Given the description of an element on the screen output the (x, y) to click on. 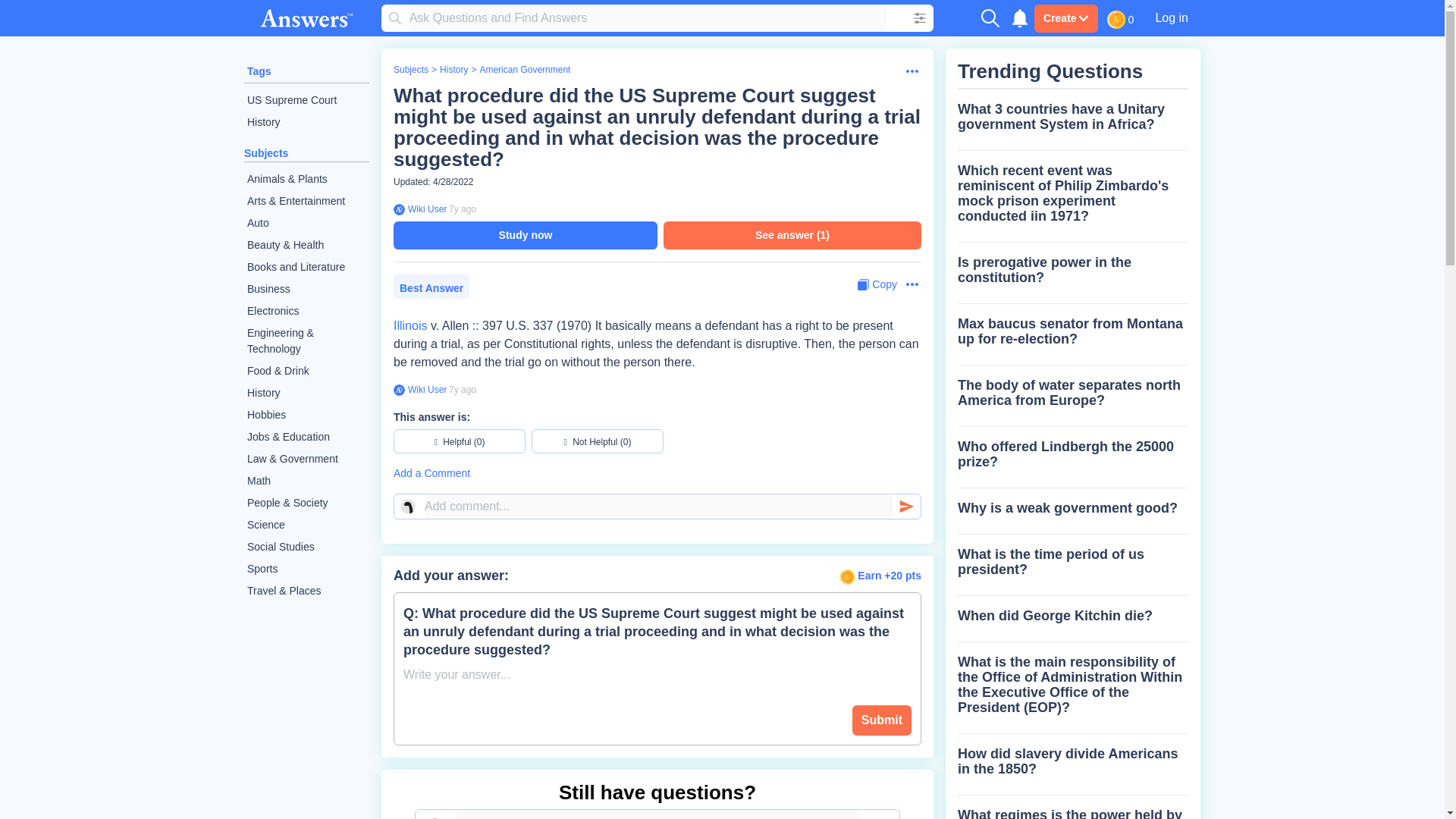
Study now (525, 235)
Copy (876, 284)
Tags (258, 70)
Books and Literature (306, 267)
2017-04-18 14:02:46 (462, 389)
History (306, 393)
Social Studies (306, 546)
Subjects (410, 69)
Electronics (306, 311)
Business (306, 289)
US Supreme Court (306, 100)
Hobbies (306, 414)
Sports (306, 568)
Auto (306, 223)
